Given the description of an element on the screen output the (x, y) to click on. 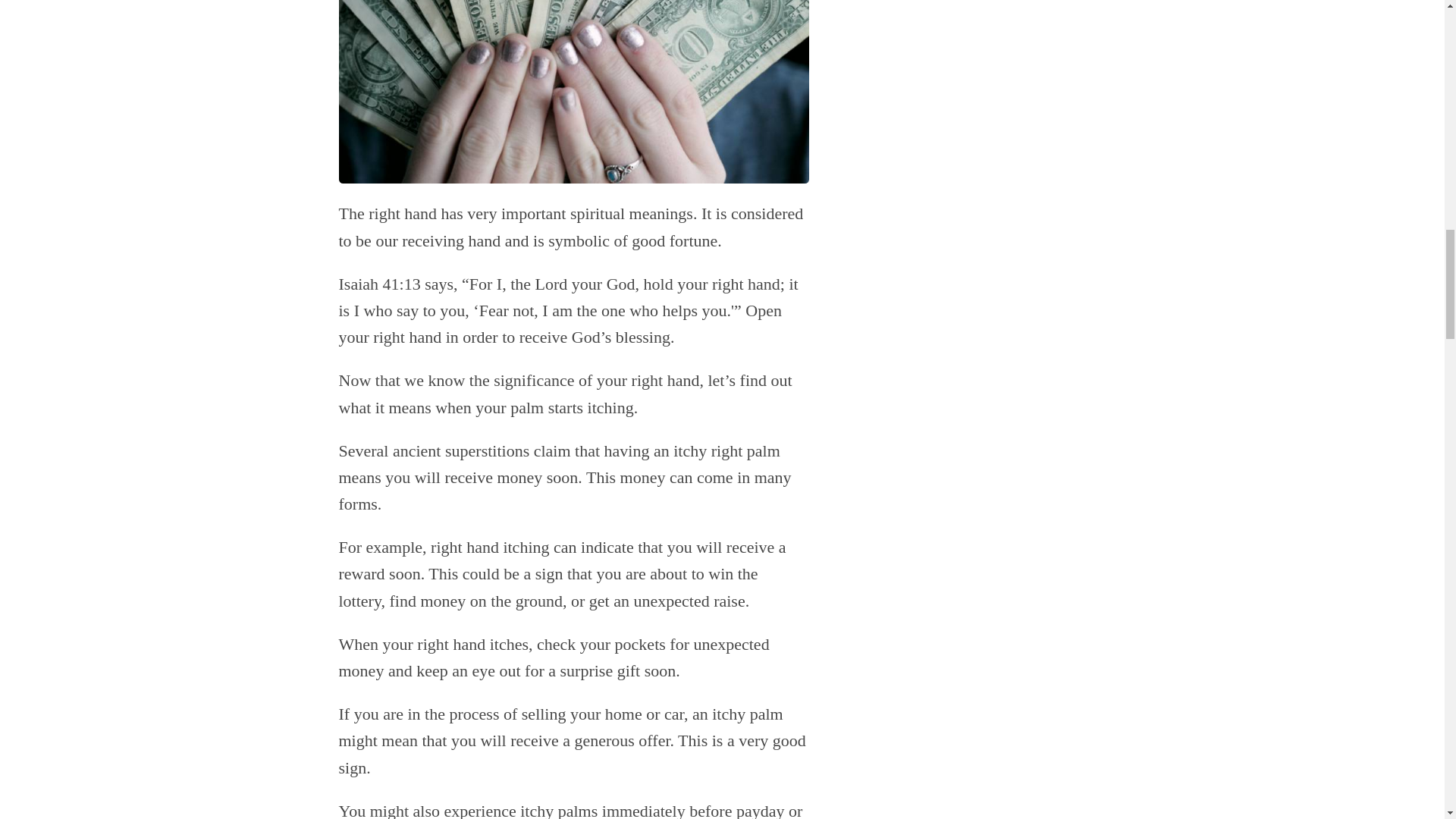
Meaning of Right Hand Itching (572, 91)
